Given the description of an element on the screen output the (x, y) to click on. 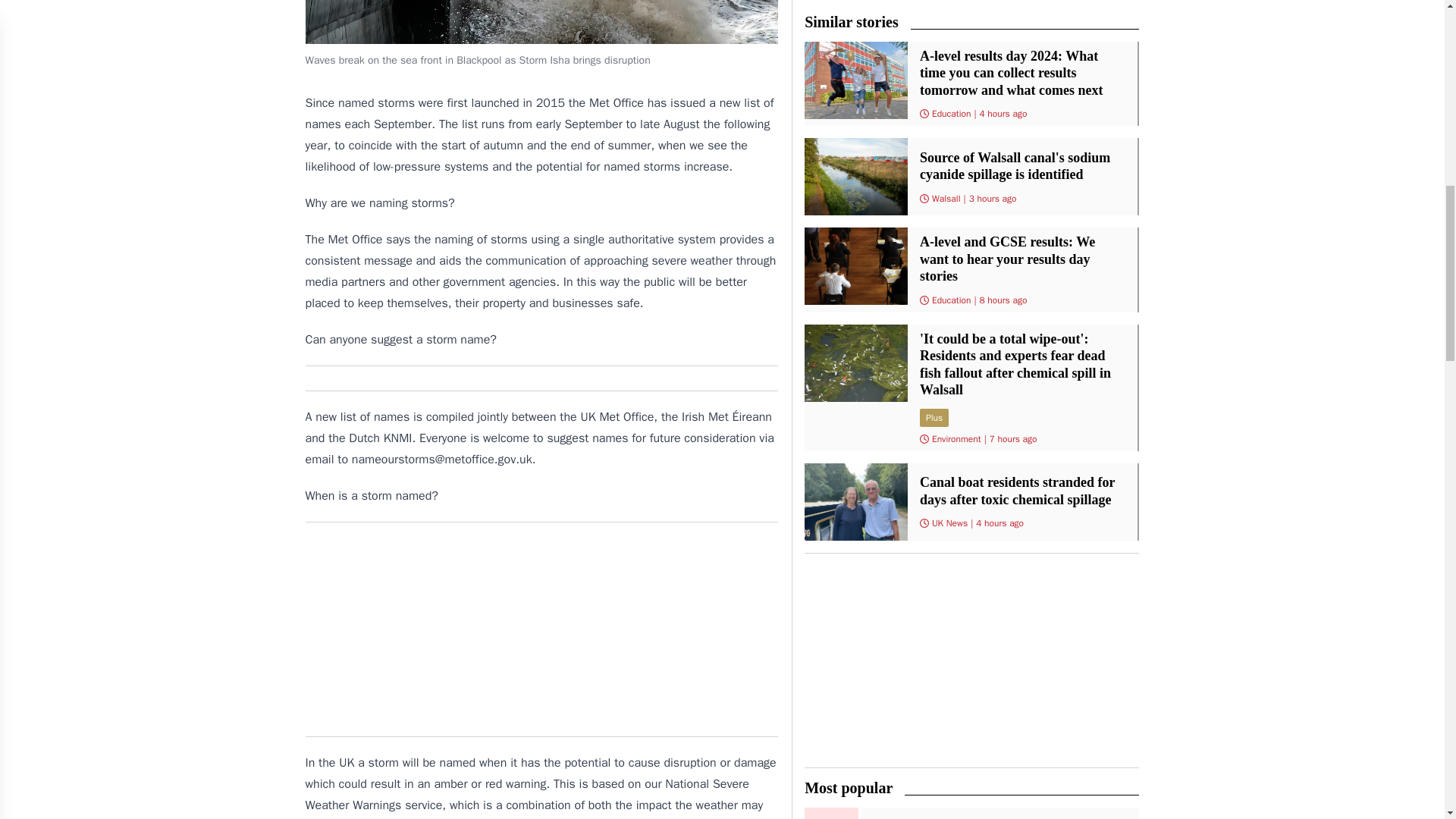
Education (951, 113)
Environment (956, 439)
Education (951, 300)
UK News (949, 522)
Walsall (945, 198)
